Given the description of an element on the screen output the (x, y) to click on. 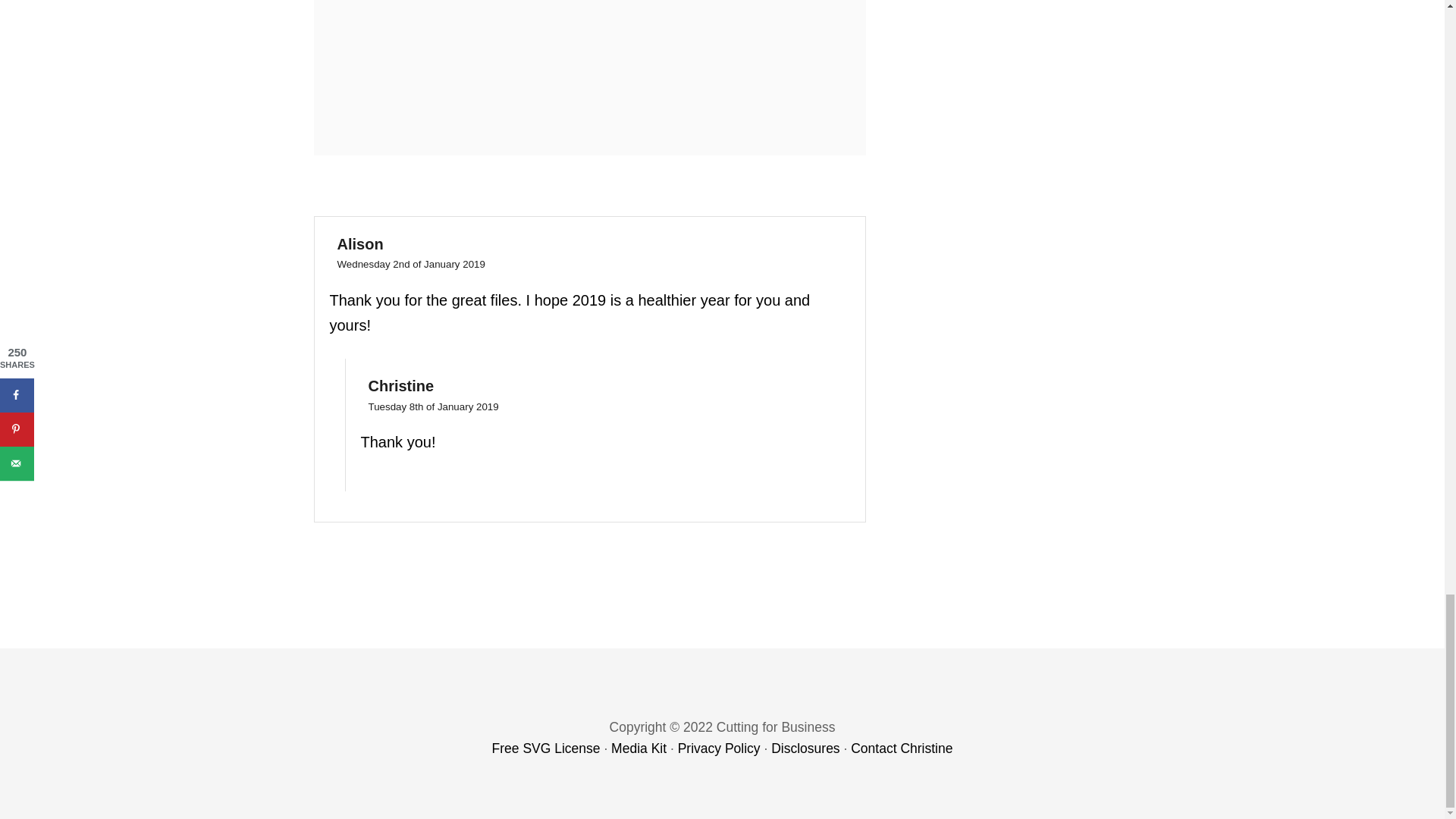
Media Kit (638, 748)
Free SVG License (545, 748)
Privacy Policy (719, 748)
Disclosures (805, 748)
